Given the description of an element on the screen output the (x, y) to click on. 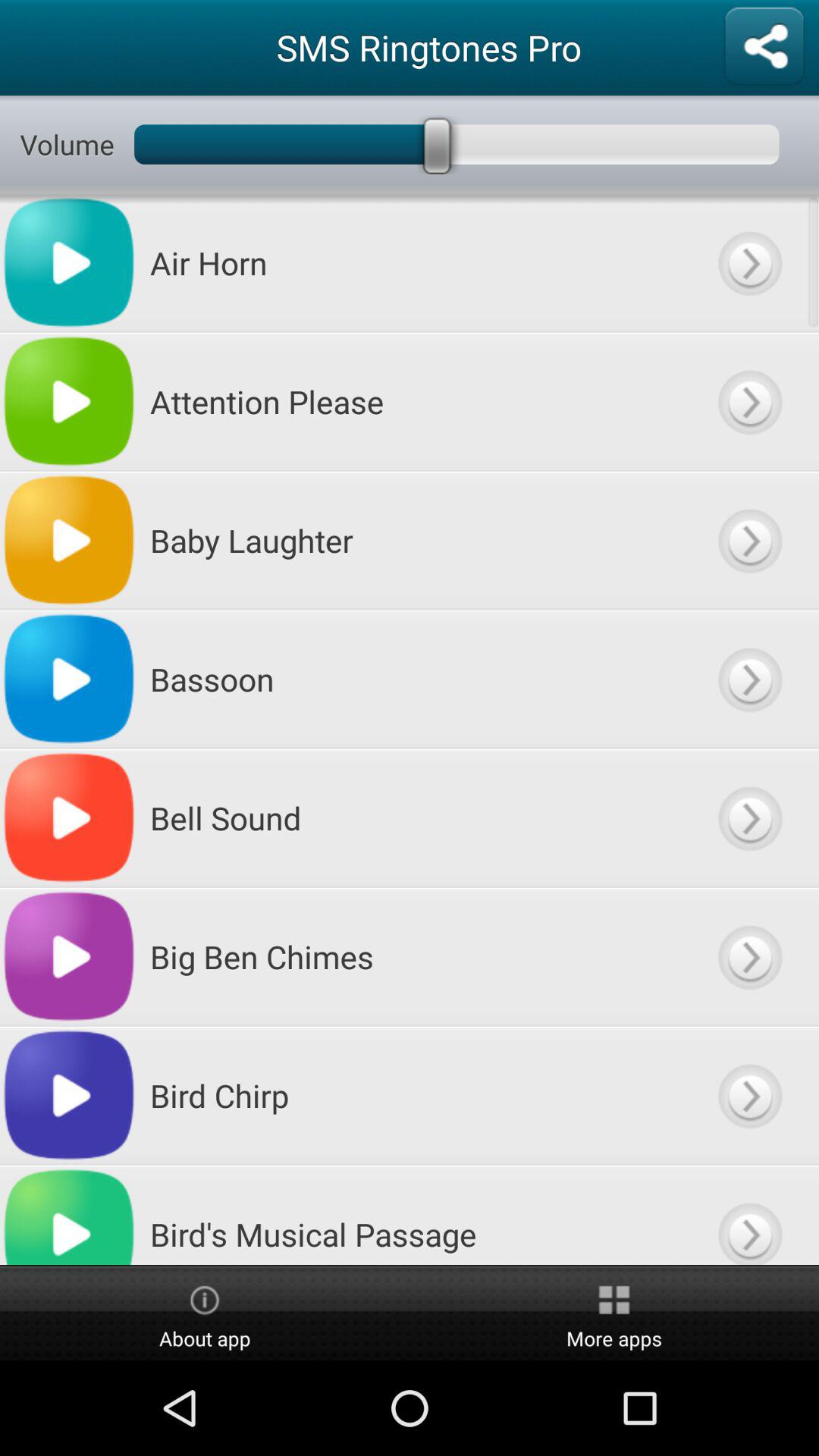
go to previous (749, 679)
